Given the description of an element on the screen output the (x, y) to click on. 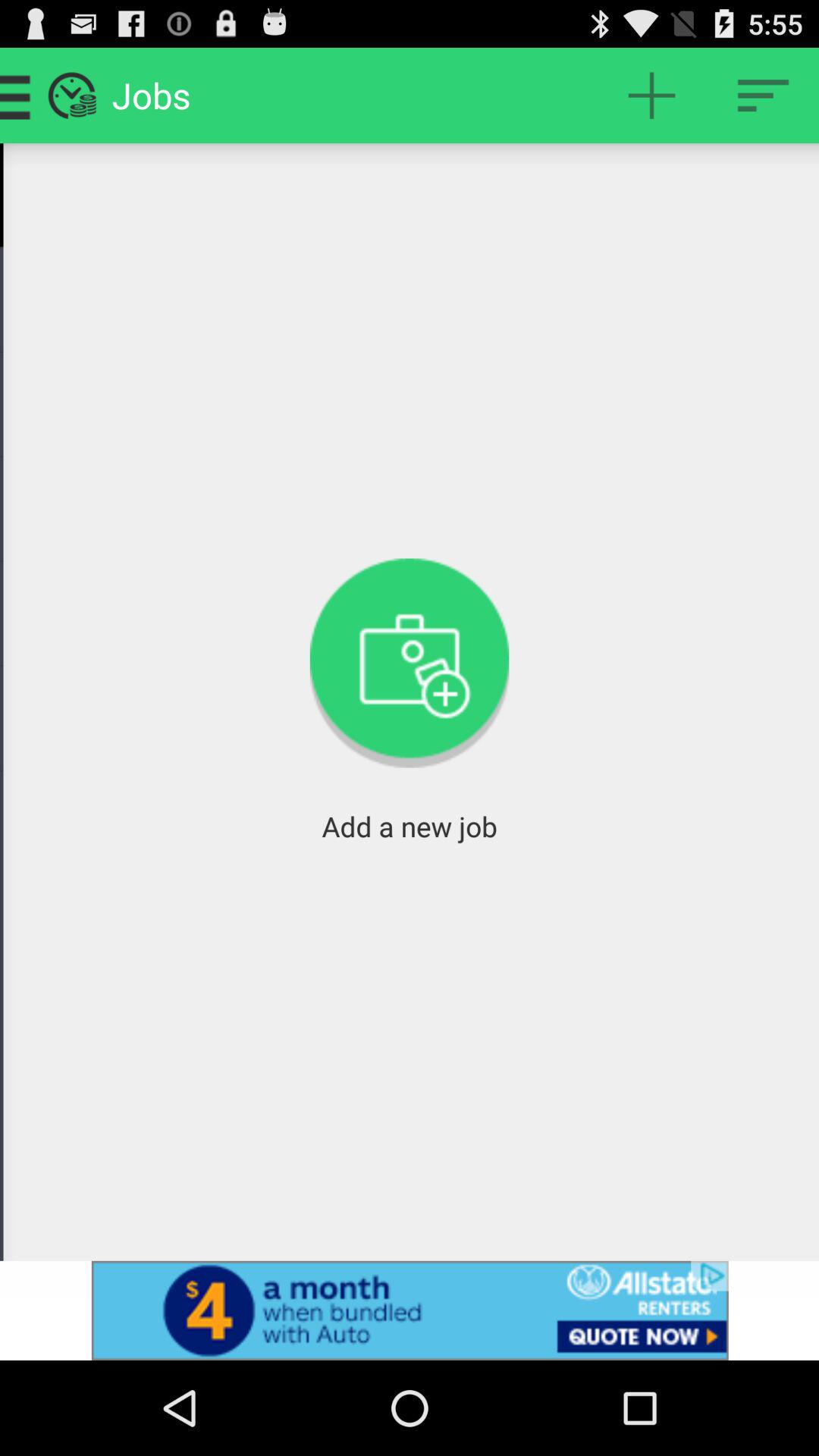
add a new job (651, 95)
